Given the description of an element on the screen output the (x, y) to click on. 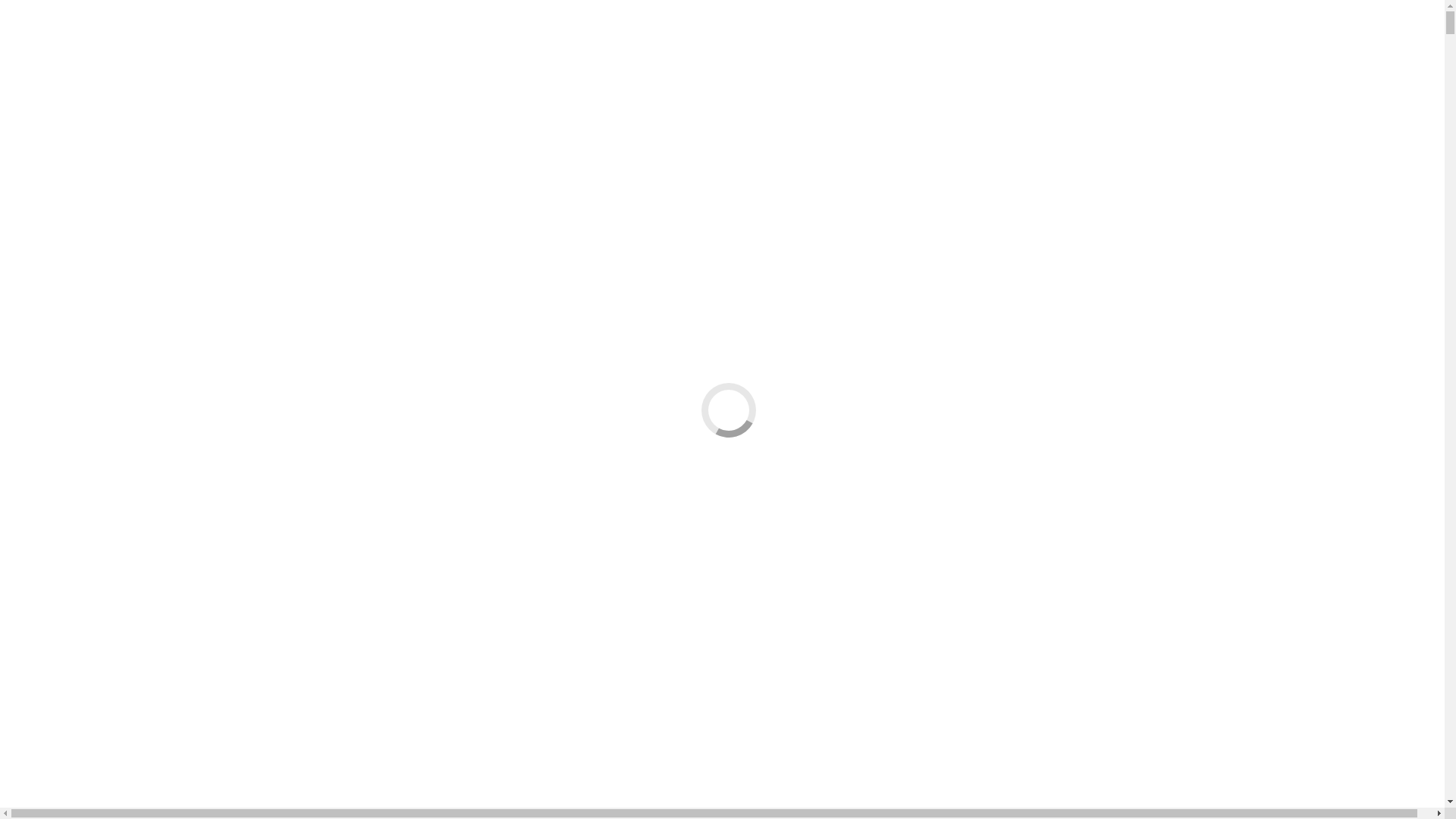
Go! Element type: text (20, 286)
Pinterest page opens in new window Element type: text (447, 25)
MEDIA INFO Element type: text (71, 160)
MEMORY Element type: text (93, 394)
120 YRS SPCTHAI Element type: text (85, 147)
MEDIA INFO Element type: text (71, 366)
Instagram page opens in new window Element type: text (627, 25)
Skip to content Element type: text (42, 12)
SPC INFO Element type: text (62, 326)
CATH NEW PRAYER Element type: text (122, 421)
Facebook page opens in new window Element type: text (97, 25)
BOARDS Element type: text (91, 201)
FEAST DAY Element type: text (98, 174)
Search form Element type: hover (73, 270)
SPCTHAI INFO Element type: text (77, 133)
120 YRS SPCTHAI Element type: text (85, 353)
CATH NEW PRAYER Element type: text (122, 215)
CONTACT US Element type: text (73, 228)
Home Element type: text (50, 535)
SPC INFO Element type: text (62, 119)
SPCTHAI INFO Element type: text (77, 339)
FEAST DAY Element type: text (98, 380)
Home Element type: text (50, 106)
MEMORY Element type: text (93, 188)
CONTACT US Element type: text (73, 435)
Twitter page opens in new window Element type: text (272, 25)
BOARDS Element type: text (91, 407)
Apr162020 Element type: text (33, 574)
Home Element type: text (50, 312)
